Given the description of an element on the screen output the (x, y) to click on. 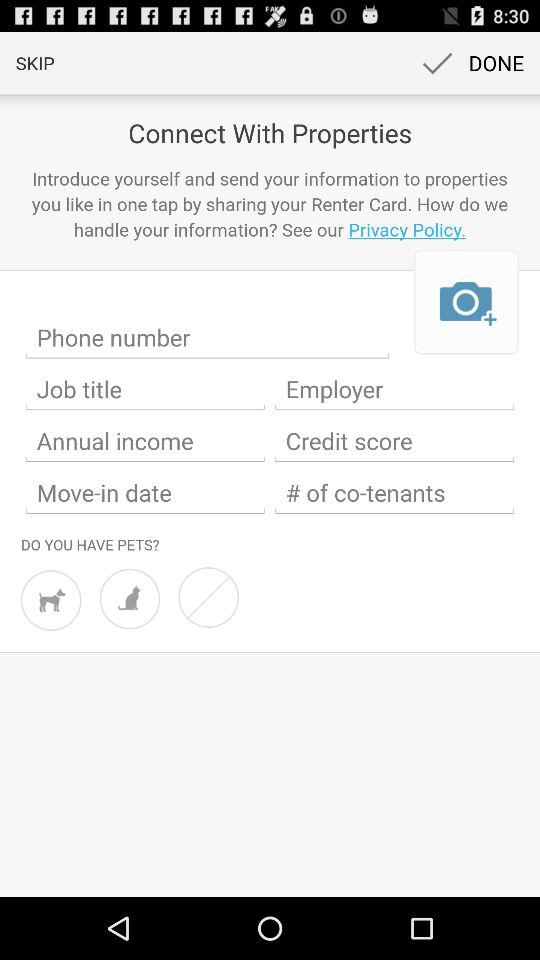
no pets (208, 597)
